Given the description of an element on the screen output the (x, y) to click on. 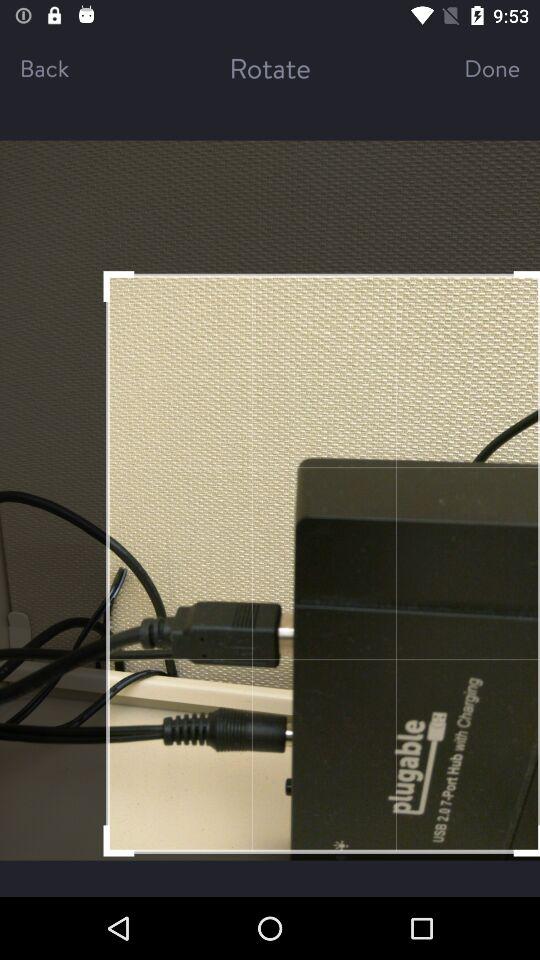
turn on item to the left of done item (269, 67)
